Given the description of an element on the screen output the (x, y) to click on. 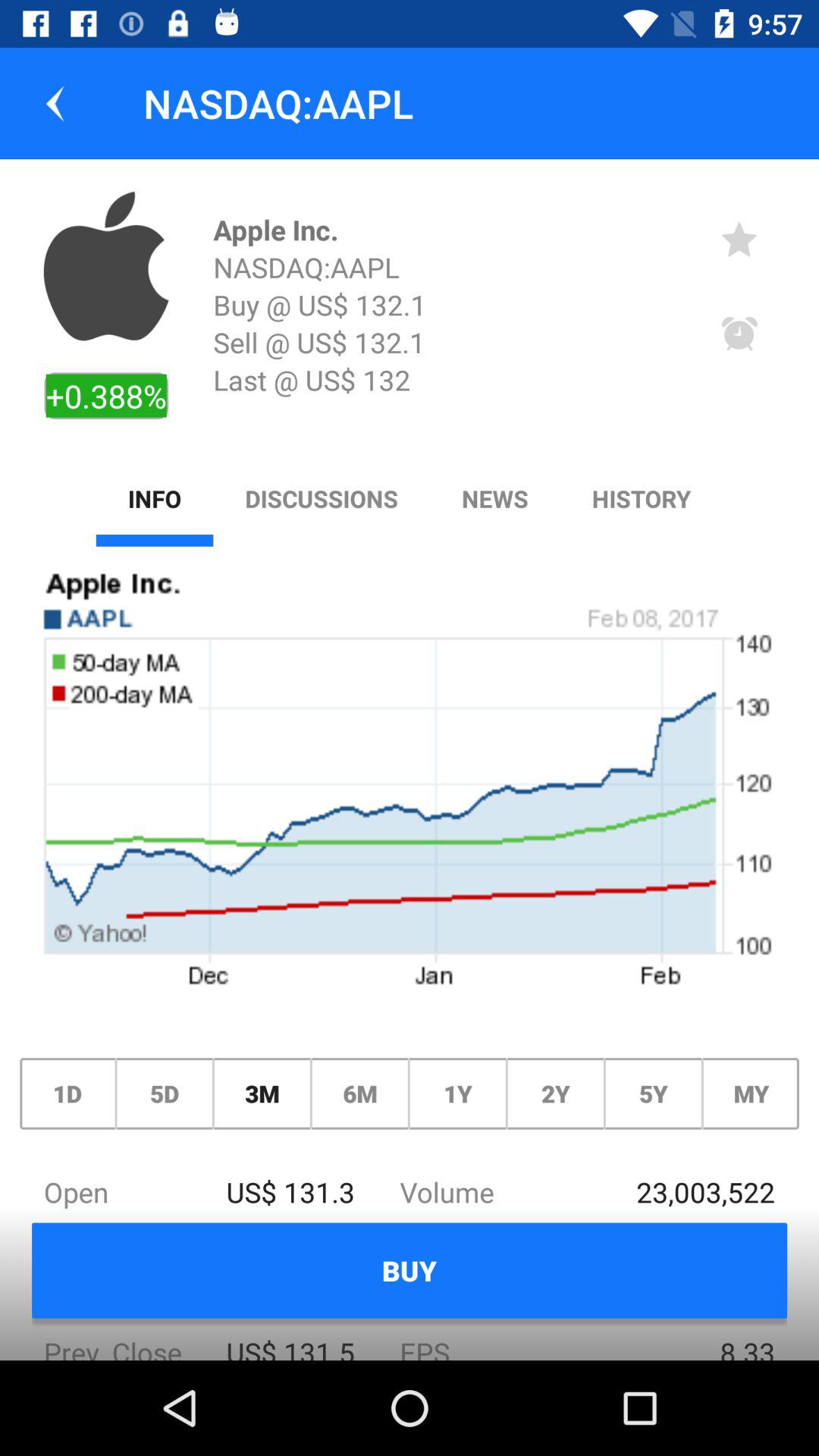
open 6m icon (359, 1093)
